Given the description of an element on the screen output the (x, y) to click on. 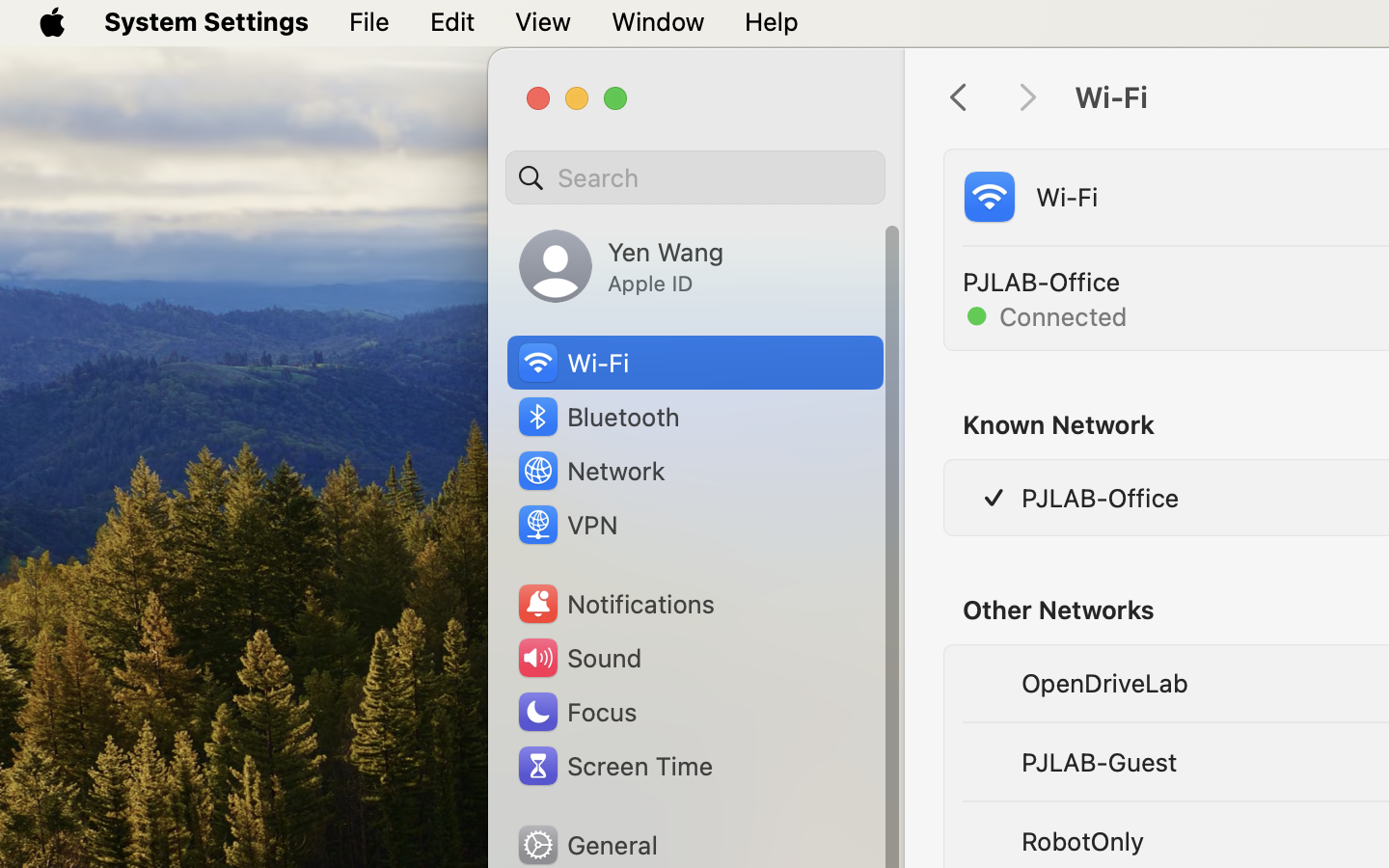
Notifications Element type: AXStaticText (615, 603)
Bluetooth Element type: AXStaticText (597, 416)
Wi-Fi Element type: AXStaticText (1027, 196)
Screen Time Element type: AXStaticText (614, 765)
Sound Element type: AXStaticText (578, 657)
